Given the description of an element on the screen output the (x, y) to click on. 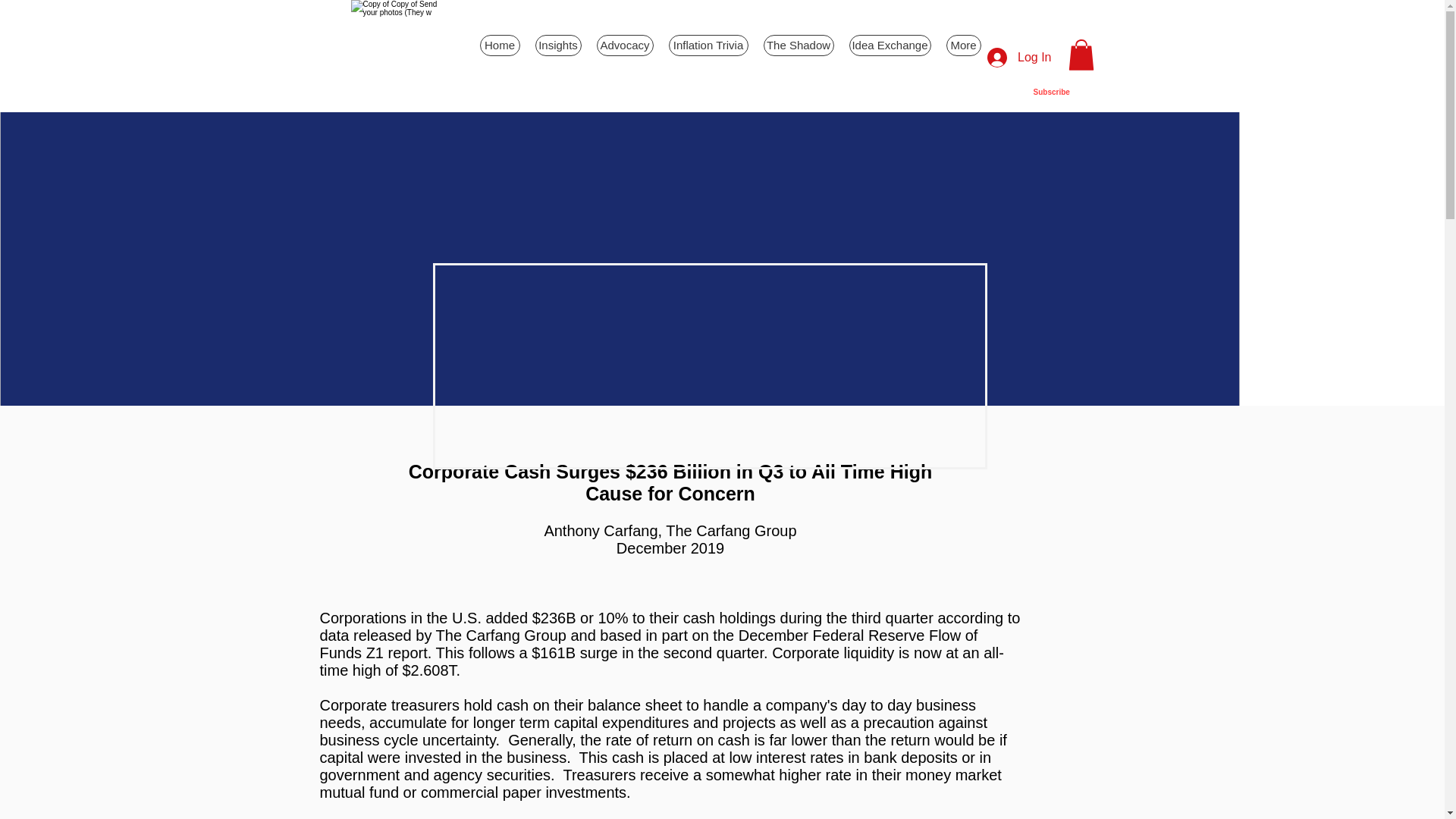
Idea Exchange (889, 45)
Subscribe (1050, 91)
Home (499, 45)
The Shadow (797, 45)
Insights (557, 45)
Inflation Trivia (708, 45)
Log In (1018, 57)
Advocacy (623, 45)
